Given the description of an element on the screen output the (x, y) to click on. 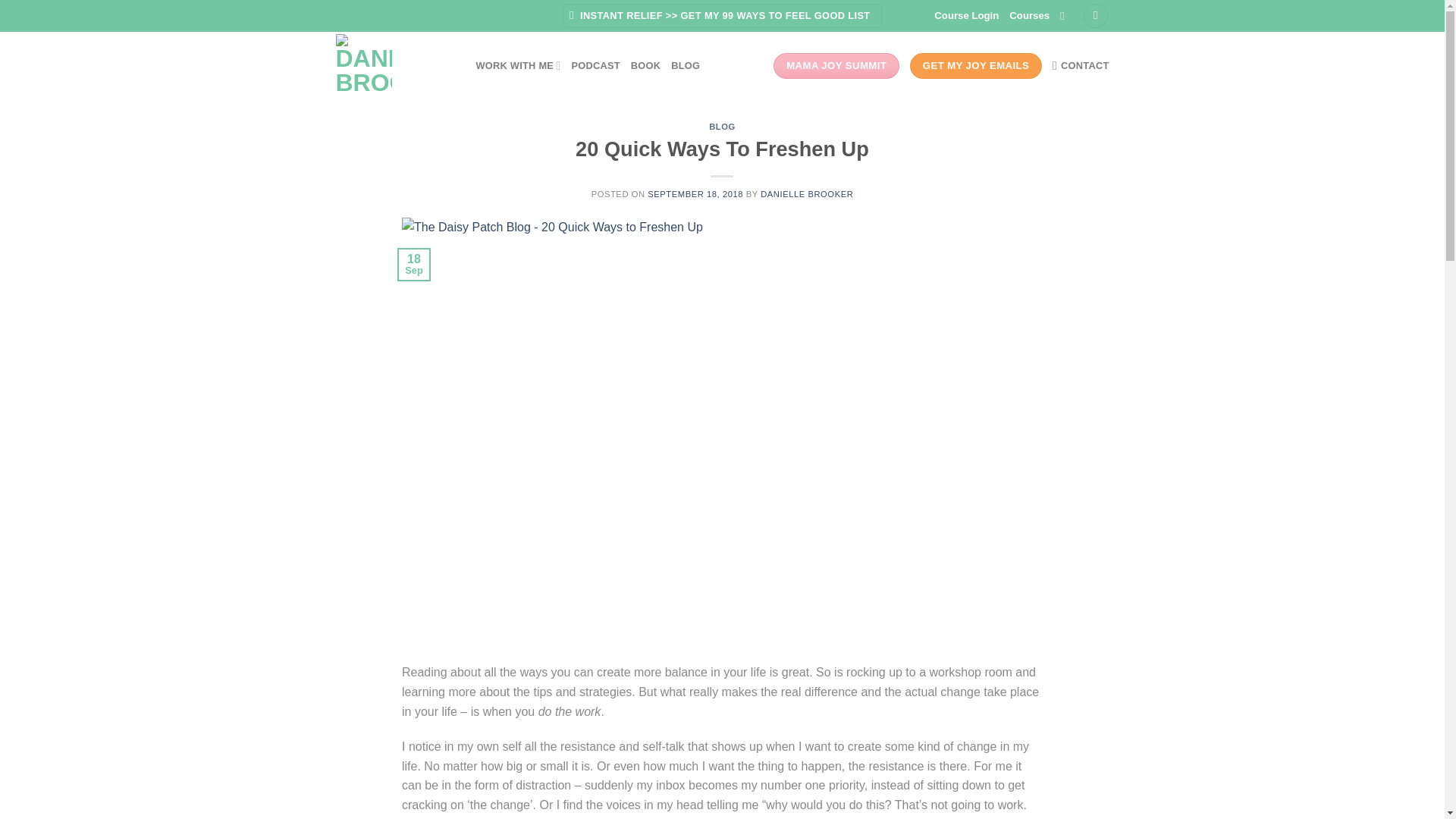
CONTACT (1080, 65)
Sign up for Newsletter (722, 16)
GET MY JOY EMAILS (976, 65)
Course Login (966, 15)
BOOK (645, 65)
SEPTEMBER 18, 2018 (694, 194)
BLOG (722, 126)
PODCAST (595, 65)
BLOG (685, 65)
MAMA JOY SUMMIT (836, 65)
WORK WITH ME (518, 65)
Courses (1029, 15)
Cart (1095, 16)
DANIELLE BROOKER (806, 194)
